Given the description of an element on the screen output the (x, y) to click on. 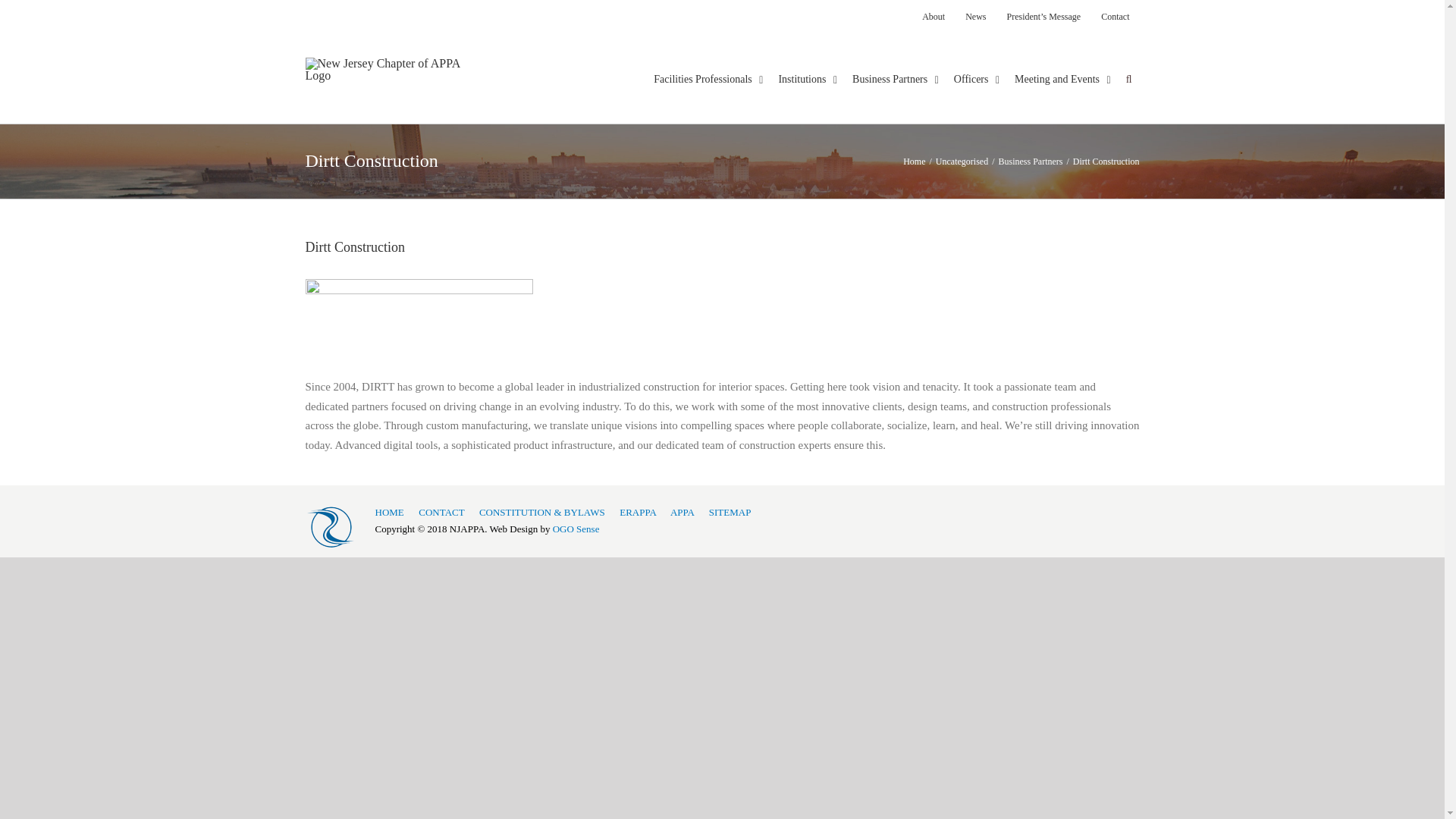
Officers (976, 65)
Facilities Professionals (708, 65)
Business Partners (895, 65)
News (975, 16)
About (933, 16)
Meeting and Events (1062, 65)
Home (913, 161)
Institutions (807, 65)
Contact (1114, 16)
